Given the description of an element on the screen output the (x, y) to click on. 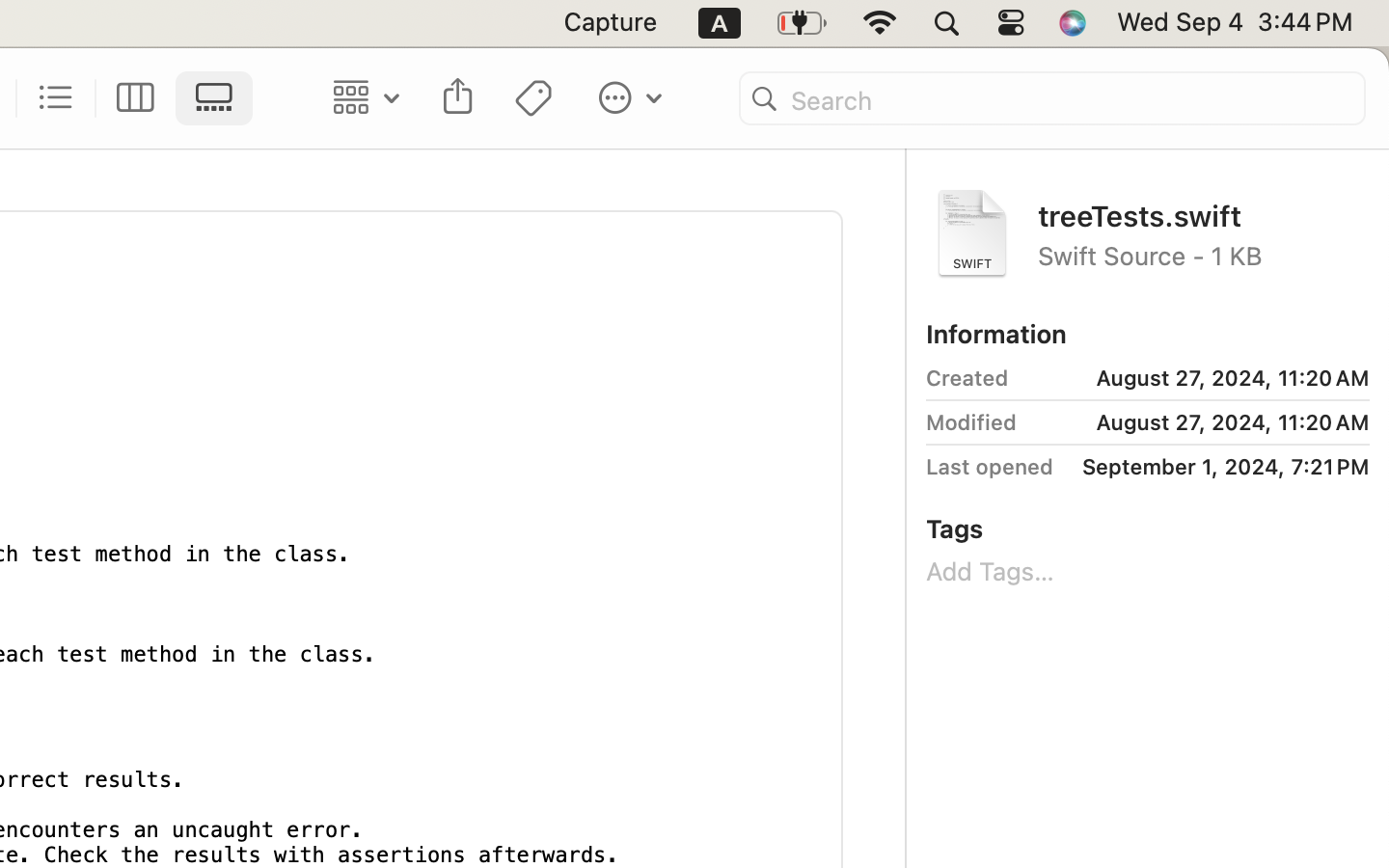
Tags Element type: AXStaticText (954, 528)
